Given the description of an element on the screen output the (x, y) to click on. 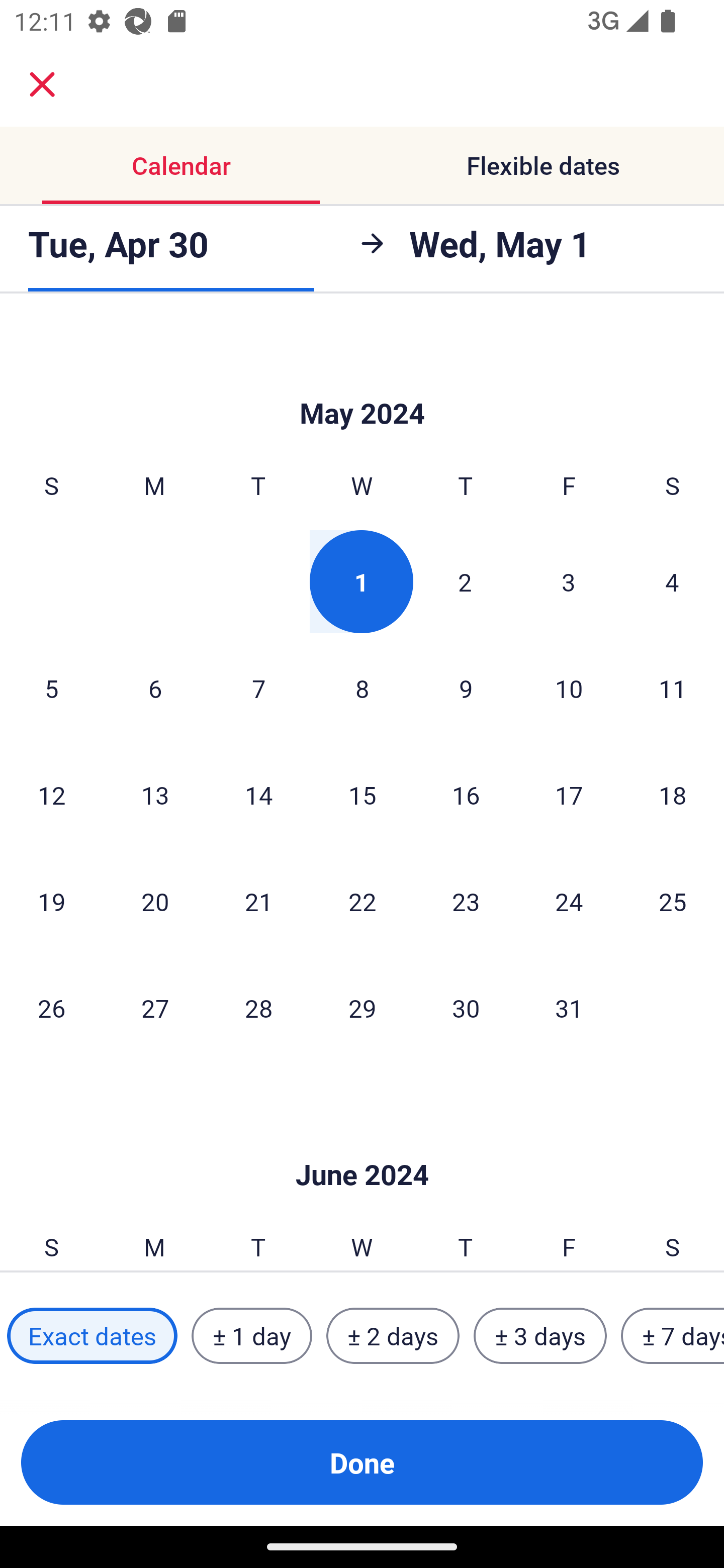
close. (42, 84)
Flexible dates (542, 164)
Skip to Done (362, 382)
2 Thursday, May 2, 2024 (464, 581)
3 Friday, May 3, 2024 (568, 581)
4 Saturday, May 4, 2024 (672, 581)
5 Sunday, May 5, 2024 (51, 688)
6 Monday, May 6, 2024 (155, 688)
7 Tuesday, May 7, 2024 (258, 688)
8 Wednesday, May 8, 2024 (362, 688)
9 Thursday, May 9, 2024 (465, 688)
10 Friday, May 10, 2024 (569, 688)
11 Saturday, May 11, 2024 (672, 688)
12 Sunday, May 12, 2024 (51, 794)
13 Monday, May 13, 2024 (155, 794)
14 Tuesday, May 14, 2024 (258, 794)
15 Wednesday, May 15, 2024 (362, 794)
16 Thursday, May 16, 2024 (465, 794)
17 Friday, May 17, 2024 (569, 794)
18 Saturday, May 18, 2024 (672, 794)
19 Sunday, May 19, 2024 (51, 901)
20 Monday, May 20, 2024 (155, 901)
21 Tuesday, May 21, 2024 (258, 901)
22 Wednesday, May 22, 2024 (362, 901)
23 Thursday, May 23, 2024 (465, 901)
24 Friday, May 24, 2024 (569, 901)
25 Saturday, May 25, 2024 (672, 901)
26 Sunday, May 26, 2024 (51, 1007)
27 Monday, May 27, 2024 (155, 1007)
28 Tuesday, May 28, 2024 (258, 1007)
29 Wednesday, May 29, 2024 (362, 1007)
30 Thursday, May 30, 2024 (465, 1007)
31 Friday, May 31, 2024 (569, 1007)
Skip to Done (362, 1144)
Exact dates (92, 1335)
± 1 day (251, 1335)
± 2 days (392, 1335)
± 3 days (539, 1335)
± 7 days (672, 1335)
Done (361, 1462)
